Given the description of an element on the screen output the (x, y) to click on. 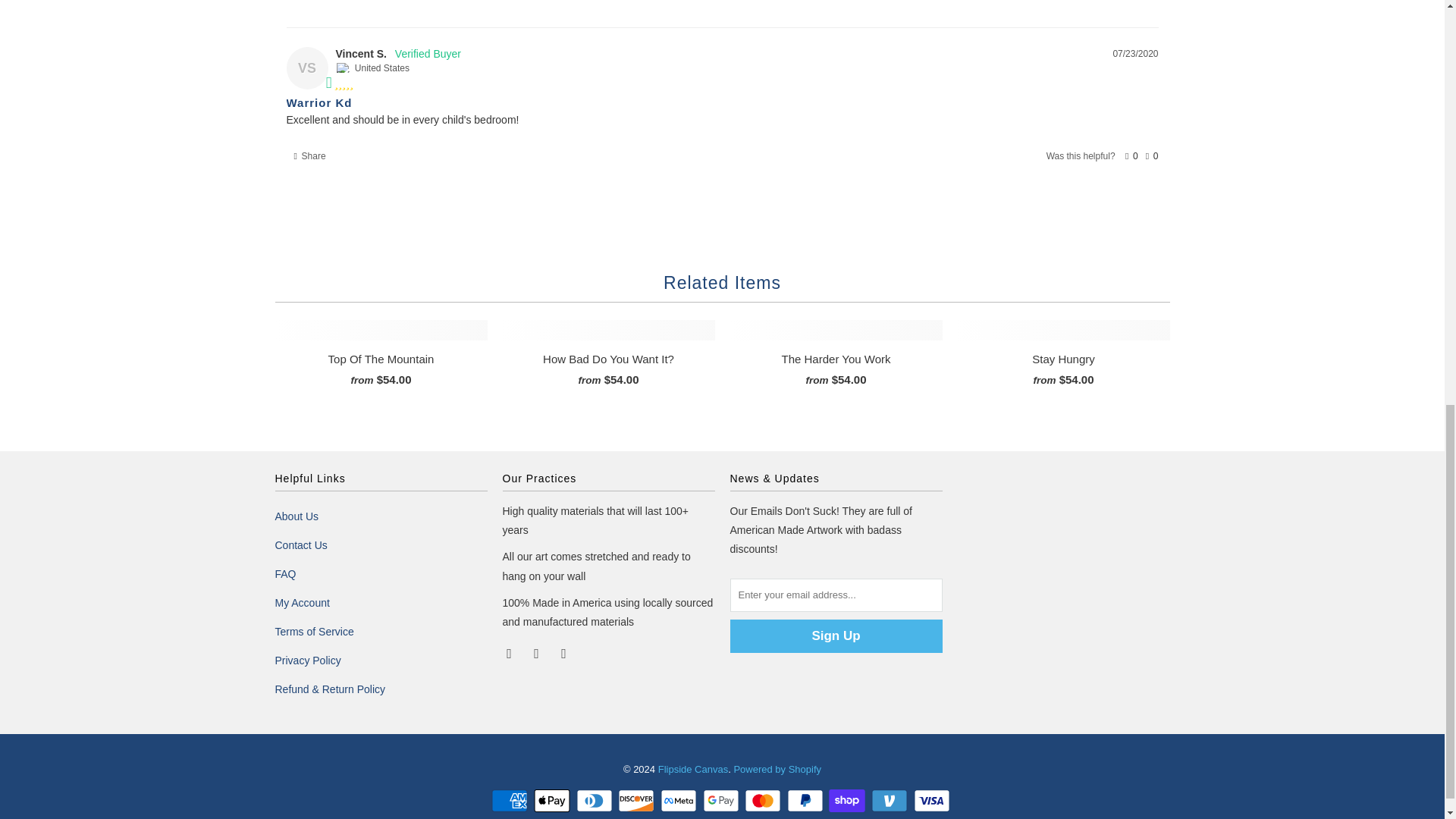
Visa (933, 800)
Apple Pay (553, 800)
American Express (511, 800)
PayPal (807, 800)
Diners Club (595, 800)
Venmo (890, 800)
Mastercard (764, 800)
Meta Pay (680, 800)
Discover (637, 800)
Sign Up (835, 635)
